Given the description of an element on the screen output the (x, y) to click on. 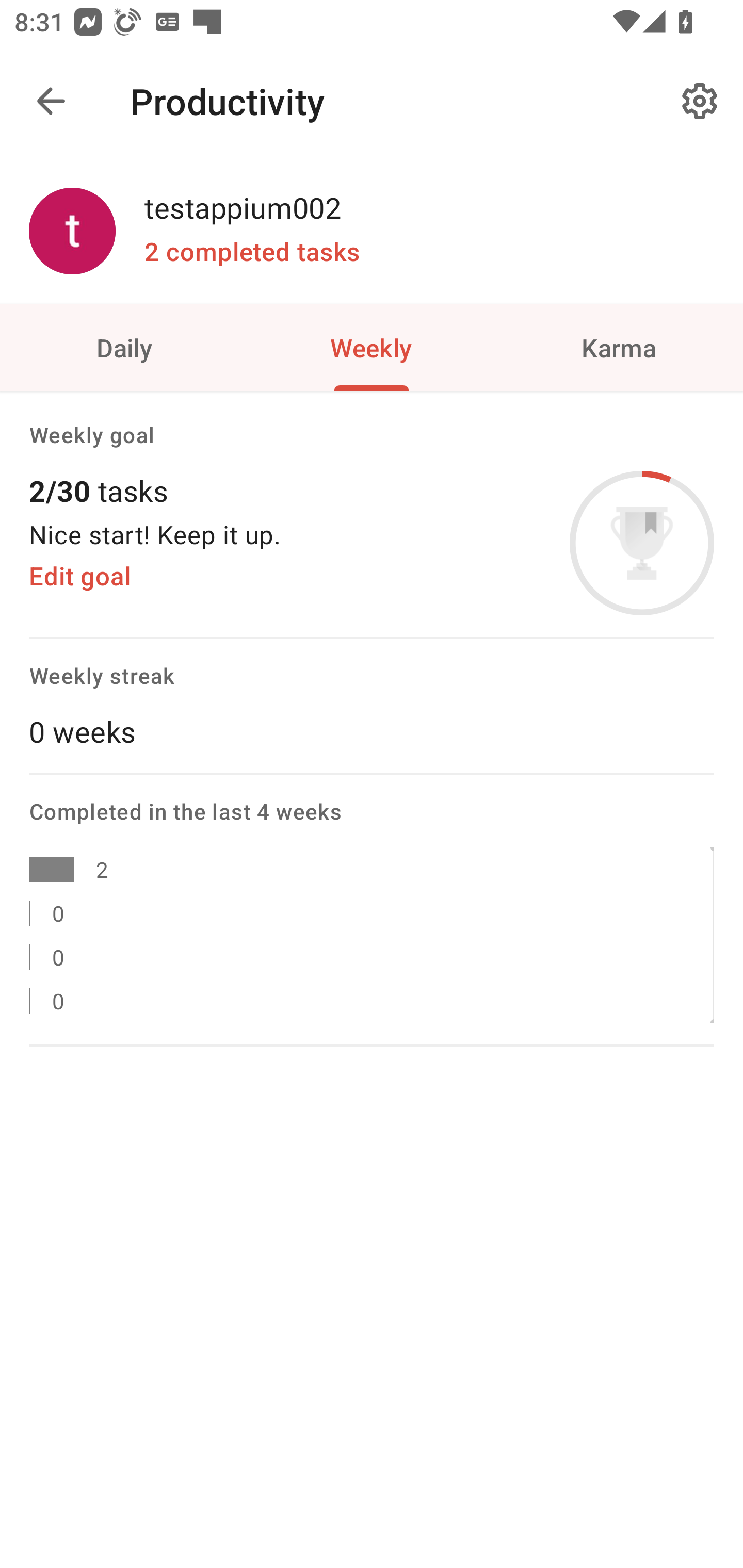
Navigate up (50, 101)
Settings (699, 101)
2 completed tasks (252, 251)
Daily (123, 347)
Karma (619, 347)
Edit goal (79, 575)
